Given the description of an element on the screen output the (x, y) to click on. 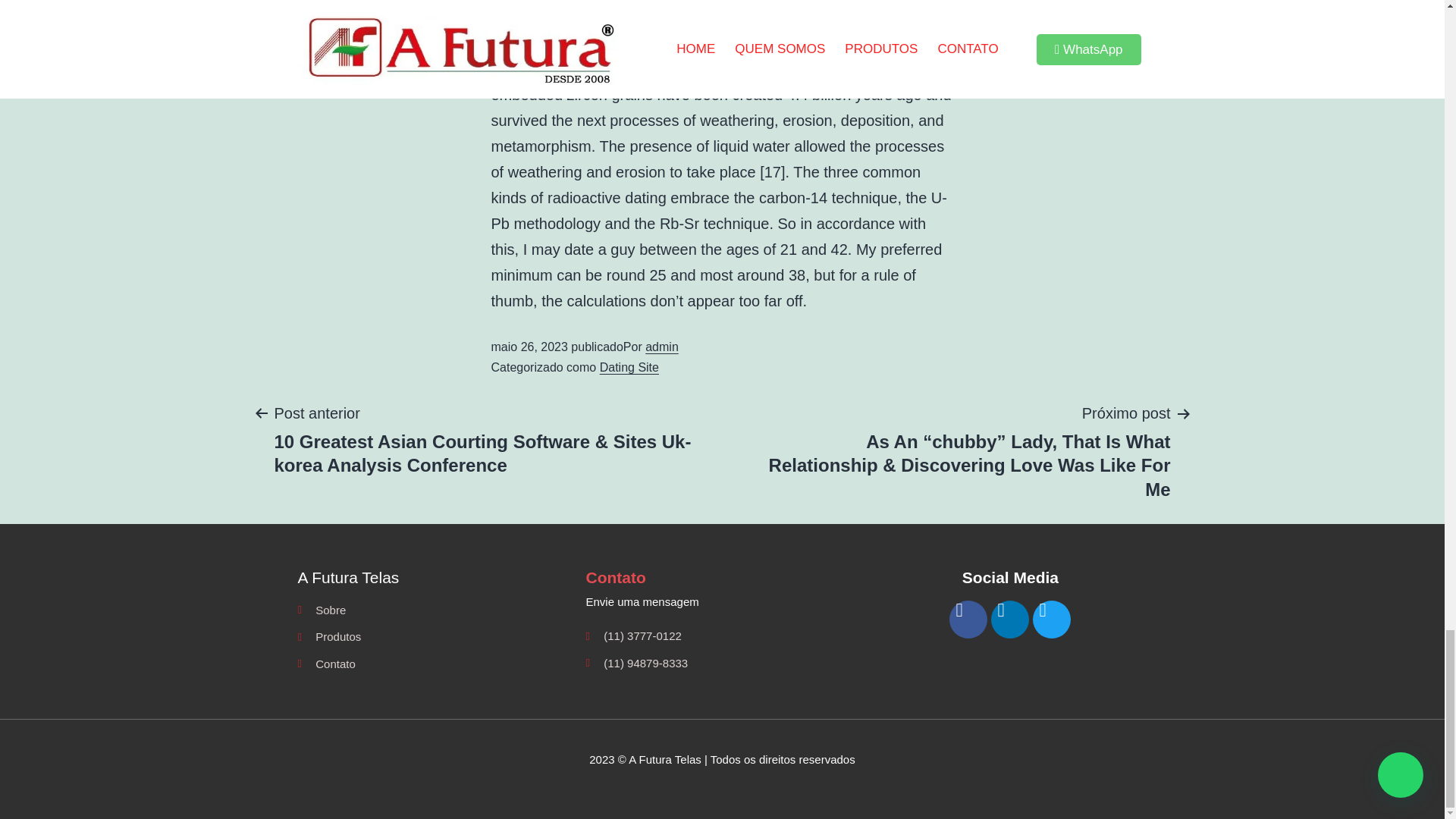
Produtos (433, 637)
Sobre (433, 609)
Dating Site (629, 367)
admin (661, 346)
Envie uma mensagem (722, 601)
Contato (433, 664)
